Given the description of an element on the screen output the (x, y) to click on. 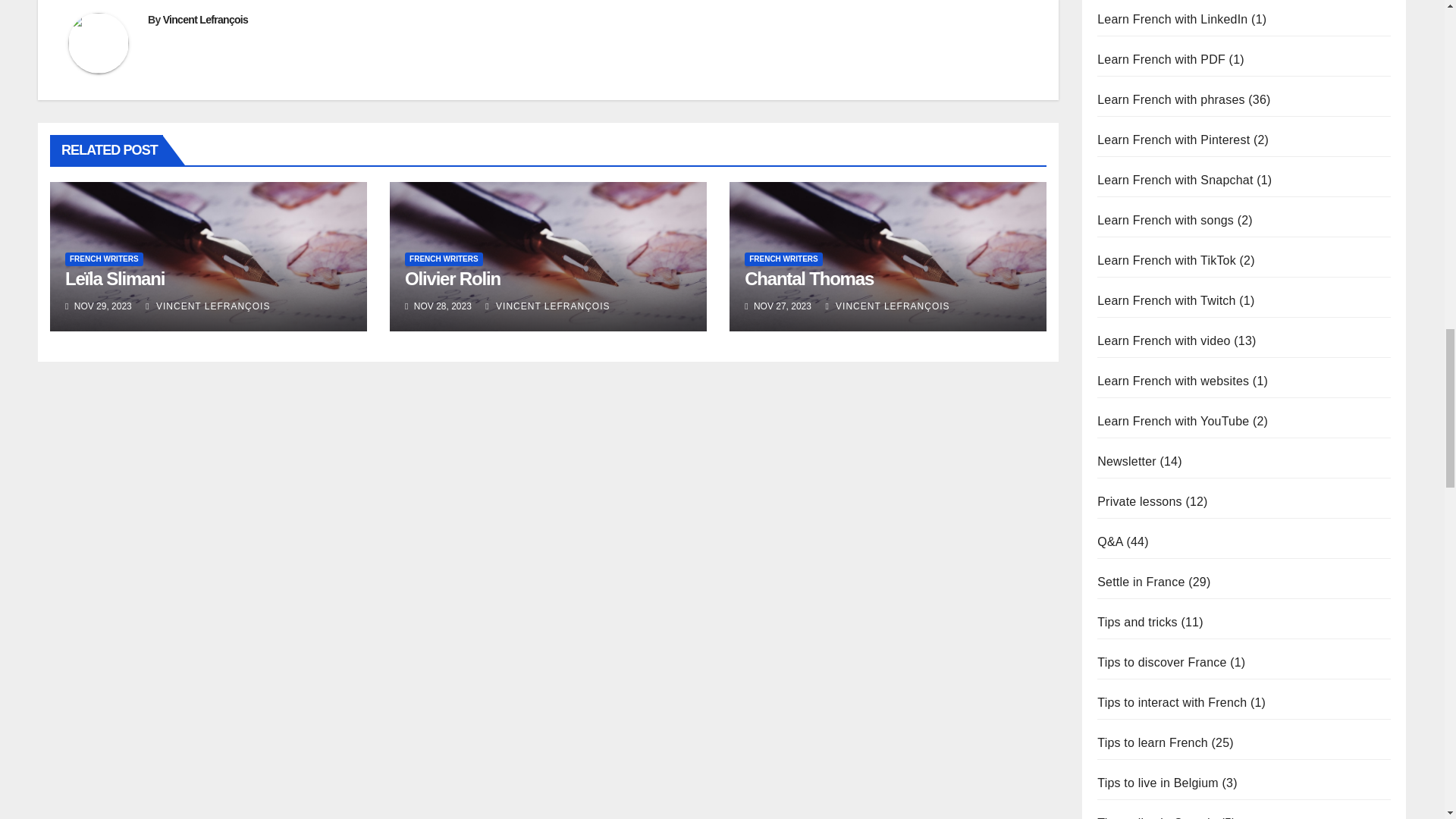
Permalink to: Olivier Rolin (452, 278)
FRENCH WRITERS (443, 259)
FRENCH WRITERS (103, 259)
Permalink to: Chantal Thomas (808, 278)
Olivier Rolin (452, 278)
